Given the description of an element on the screen output the (x, y) to click on. 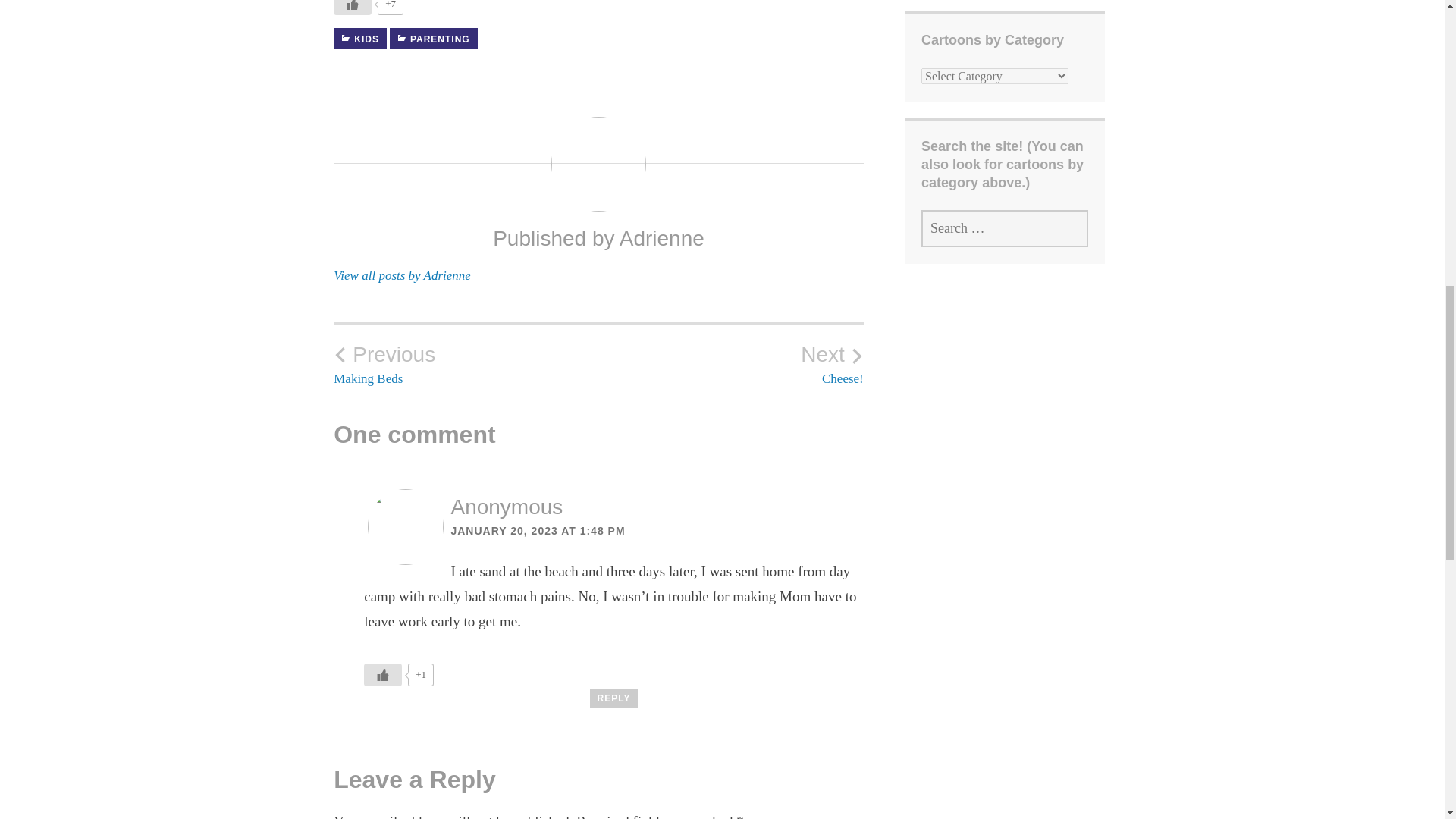
KIDS (360, 38)
View all posts by Adrienne (465, 364)
REPLY (401, 275)
JANUARY 20, 2023 AT 1:48 PM (614, 698)
PARENTING (730, 364)
